Given the description of an element on the screen output the (x, y) to click on. 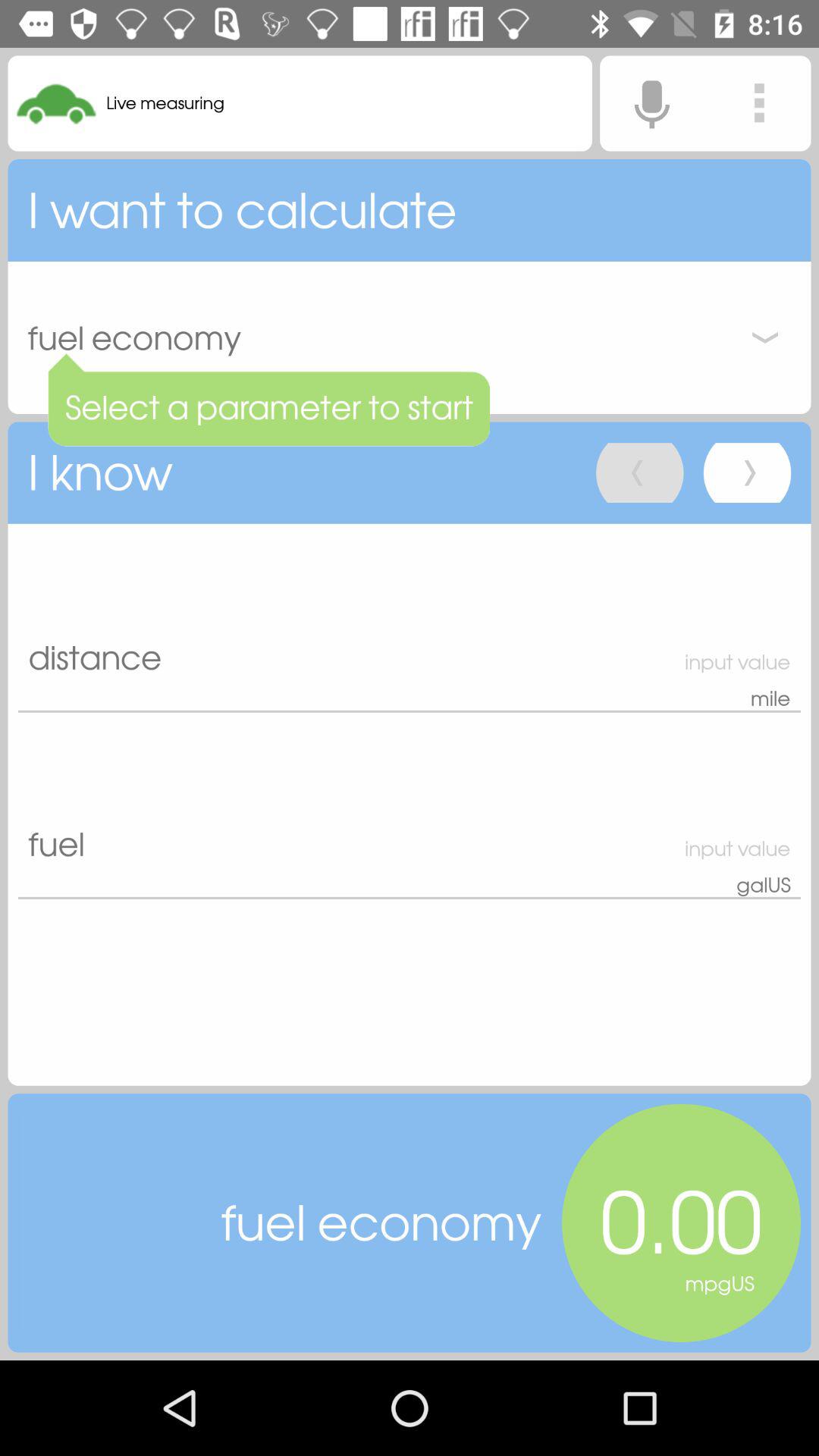
application settings (759, 103)
